Given the description of an element on the screen output the (x, y) to click on. 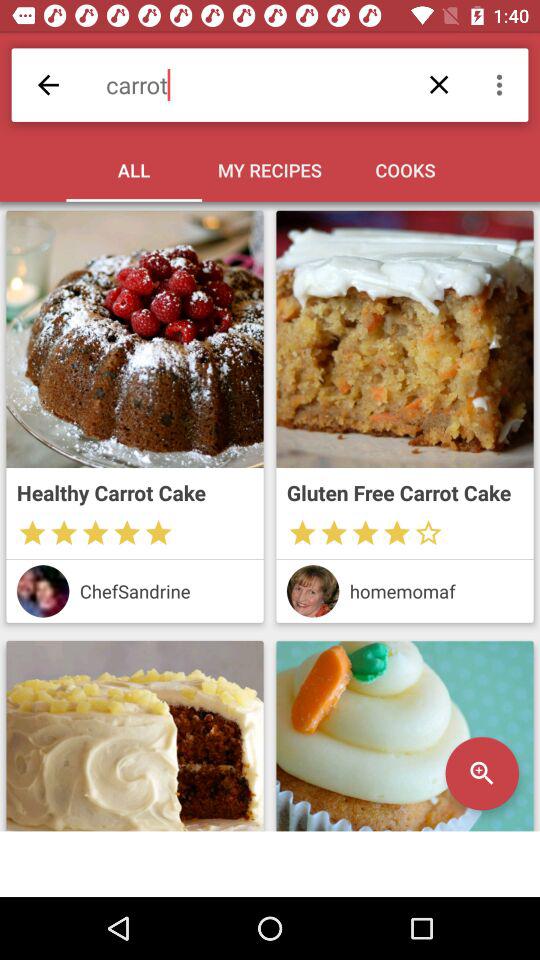
show details (404, 735)
